Given the description of an element on the screen output the (x, y) to click on. 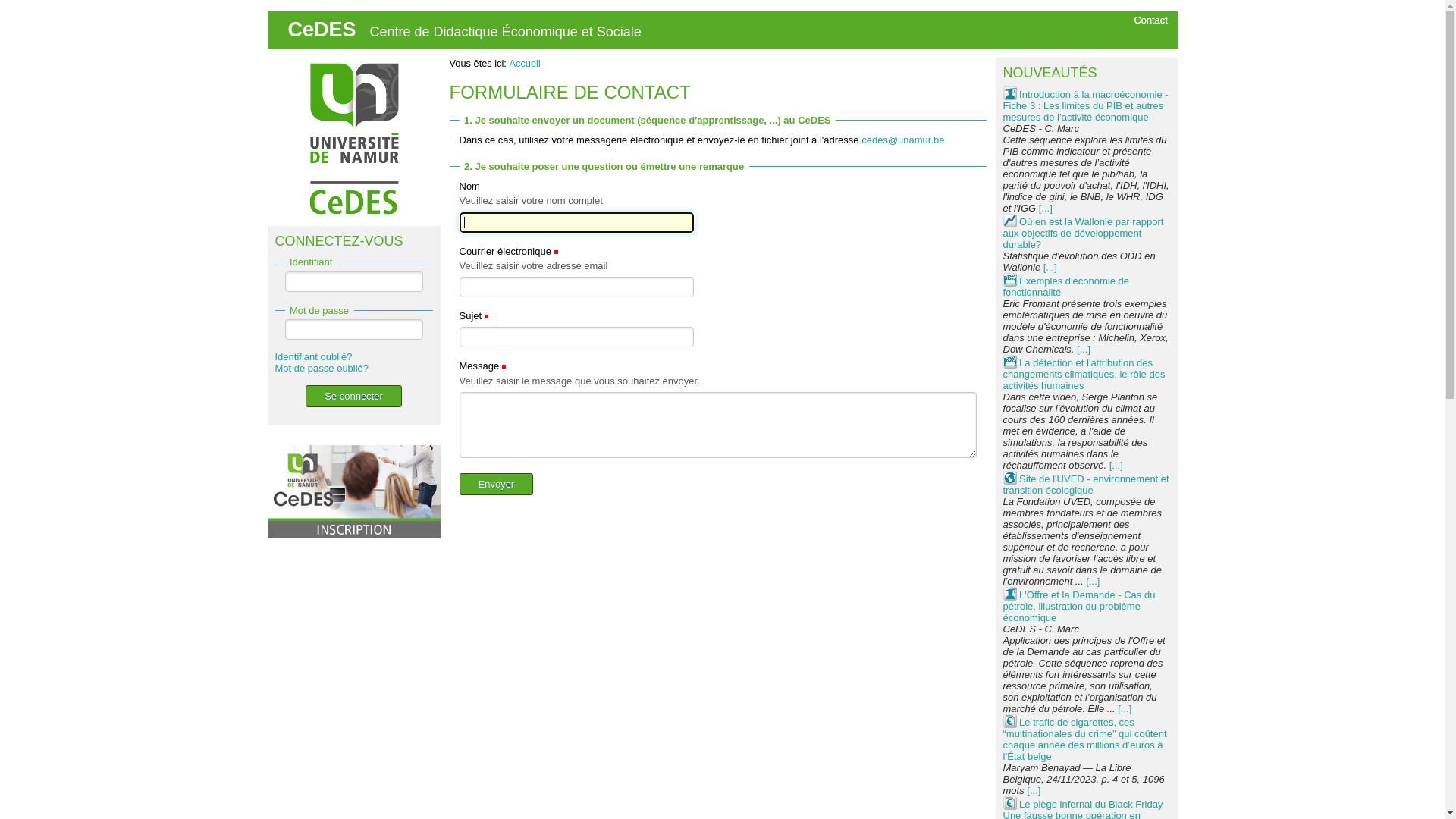
[...] Element type: text (1033, 790)
[...] Element type: text (1045, 207)
[...] Element type: text (1124, 708)
Contact Element type: text (1150, 19)
Site du CeDES Element type: hover (351, 138)
cedes@unamur.be Element type: text (902, 139)
Accueil Element type: text (523, 63)
[...] Element type: text (1092, 580)
Retourner au contenu. Element type: text (293, 29)
CONNECTEZ-VOUS Element type: text (353, 241)
[...] Element type: text (1116, 464)
Se connecter Element type: text (353, 396)
Site du CeDES Element type: hover (351, 137)
[...] Element type: text (1050, 267)
Inscription au CeDES Element type: hover (352, 491)
Envoyer Element type: text (496, 484)
[...] Element type: text (1083, 348)
